Given the description of an element on the screen output the (x, y) to click on. 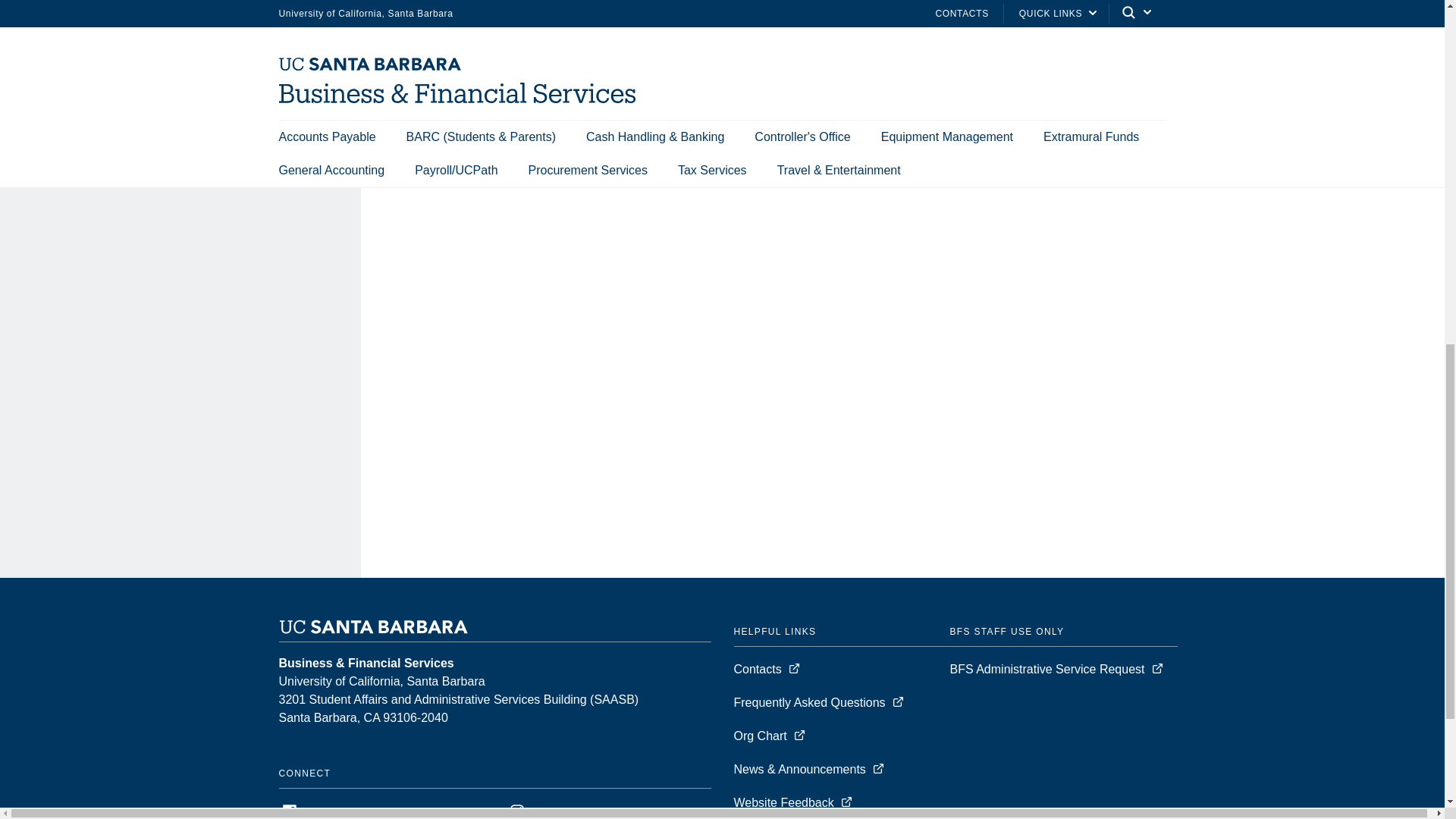
TRAINING (83, 31)
WEBSITE FEEDBACK (116, 63)
ORGANIZATION CHART (122, 2)
